Given the description of an element on the screen output the (x, y) to click on. 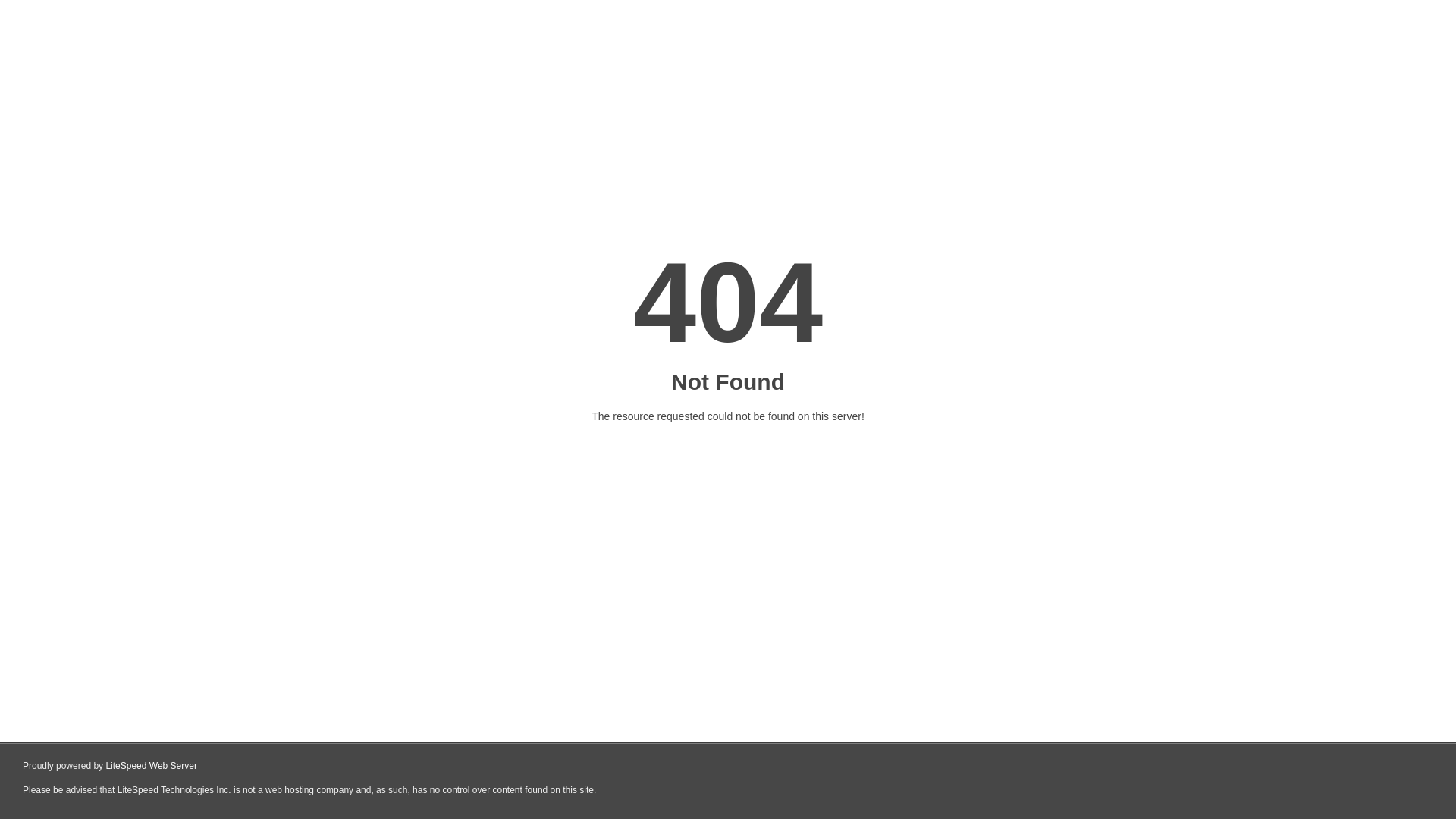
LiteSpeed Web Server Element type: text (151, 765)
